Given the description of an element on the screen output the (x, y) to click on. 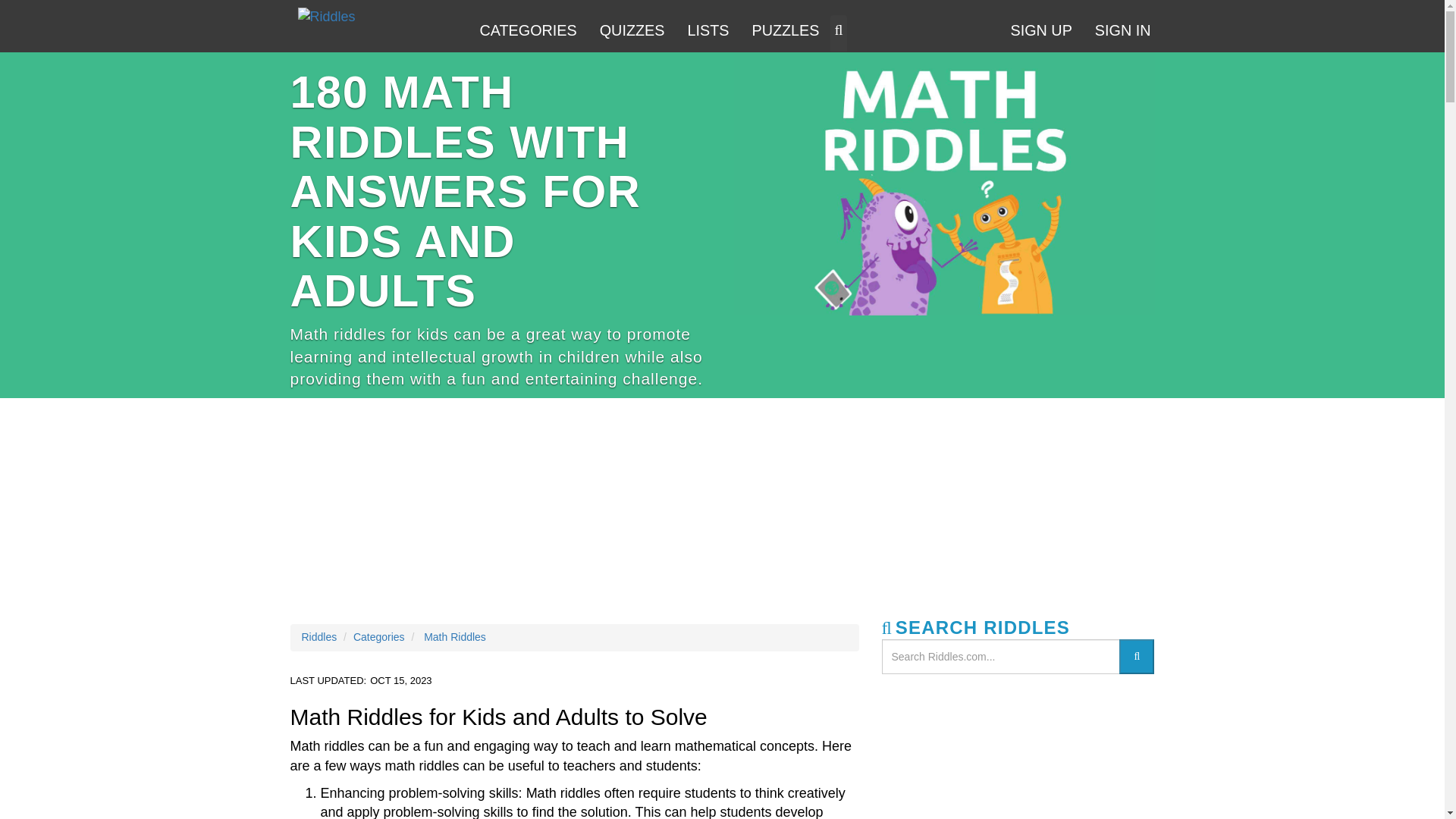
SIGN IN (1122, 32)
Math Riddles (943, 183)
Math Riddles (454, 636)
CATEGORIES (528, 32)
LISTS (707, 32)
Riddles (319, 636)
PUZZLES (784, 32)
Riddles (326, 16)
Categories (378, 636)
QUIZZES (632, 32)
